Given the description of an element on the screen output the (x, y) to click on. 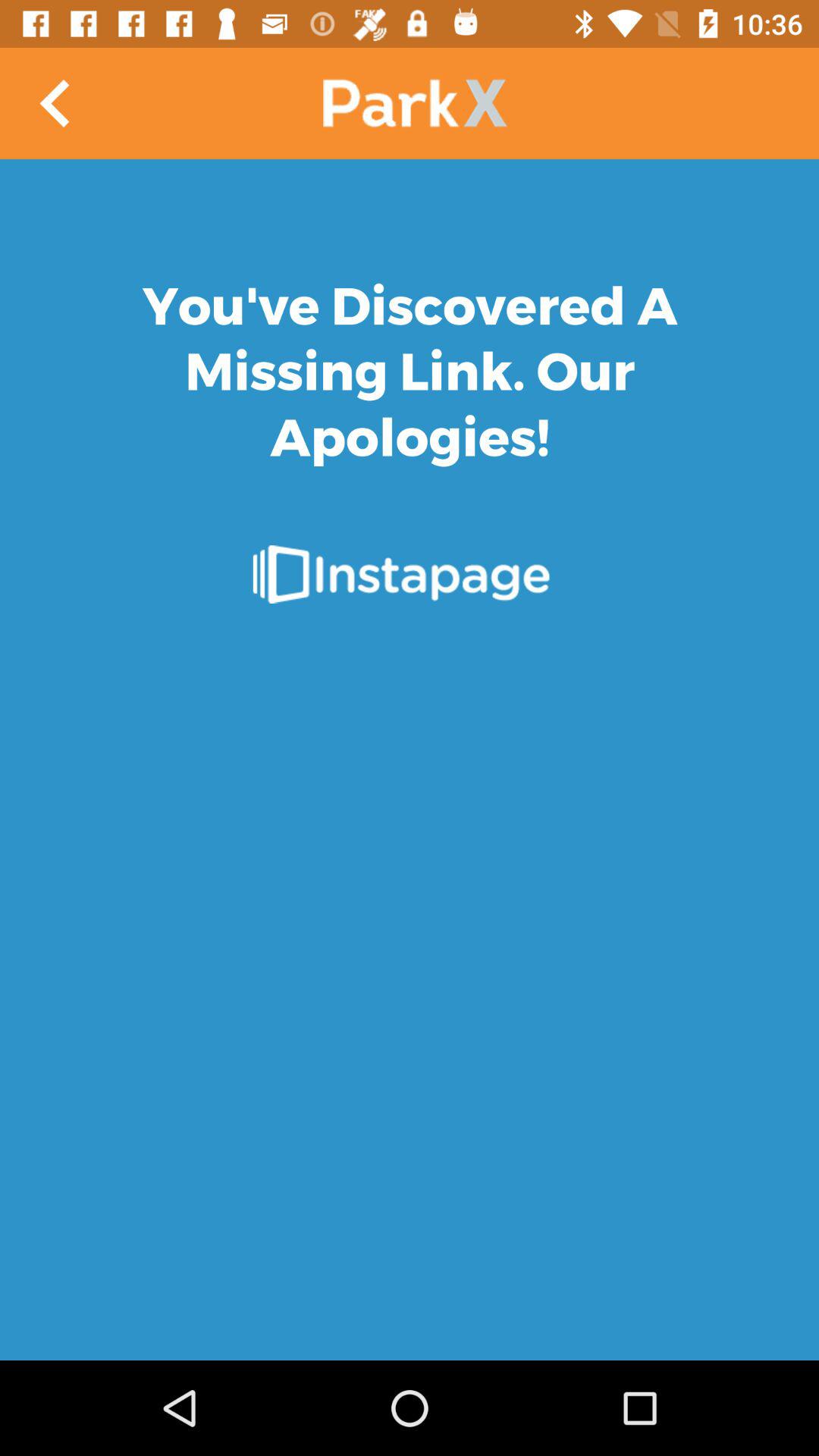
screen page (409, 759)
